Given the description of an element on the screen output the (x, y) to click on. 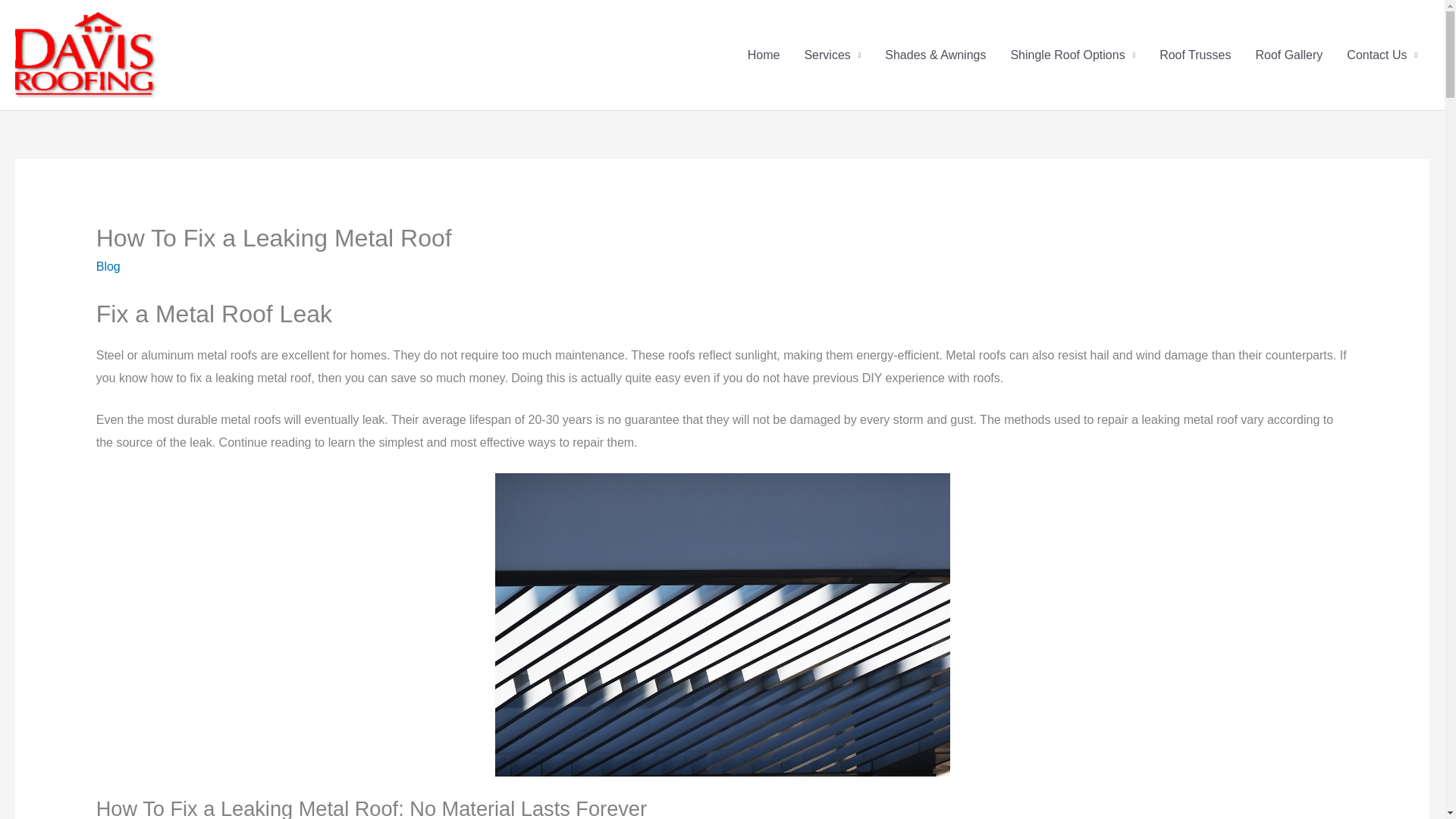
Home (763, 54)
Contact Us (1382, 54)
Services (832, 54)
Roof Gallery (1289, 54)
Blog (108, 266)
Roof Trusses (1195, 54)
Shingle Roof Options (1072, 54)
